Given the description of an element on the screen output the (x, y) to click on. 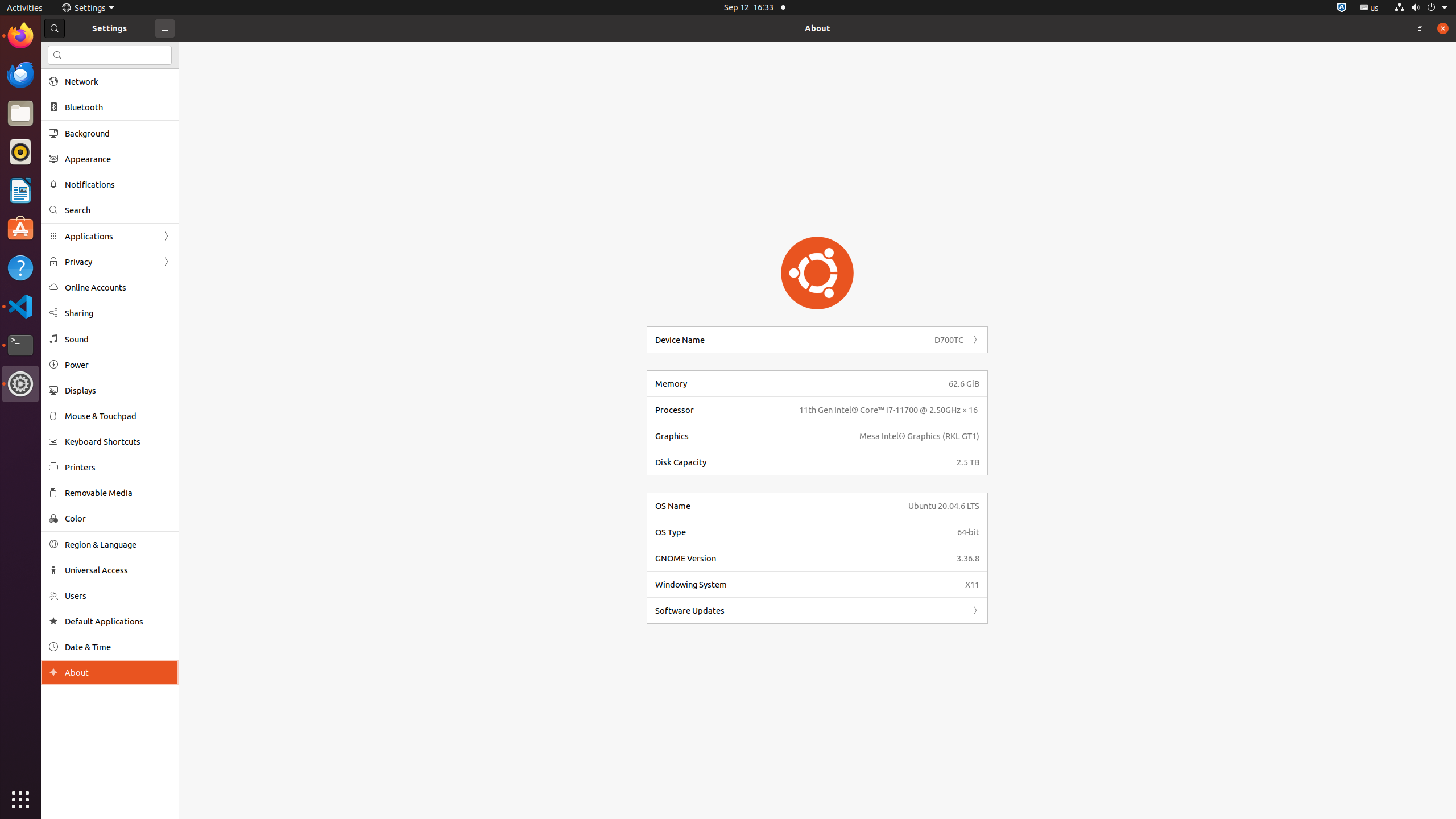
Software Updates Element type: label (805, 610)
Search Element type: text (109, 54)
Keyboard Shortcuts Element type: label (117, 441)
Windowing System Element type: label (806, 584)
Sharing Element type: label (117, 312)
